Given the description of an element on the screen output the (x, y) to click on. 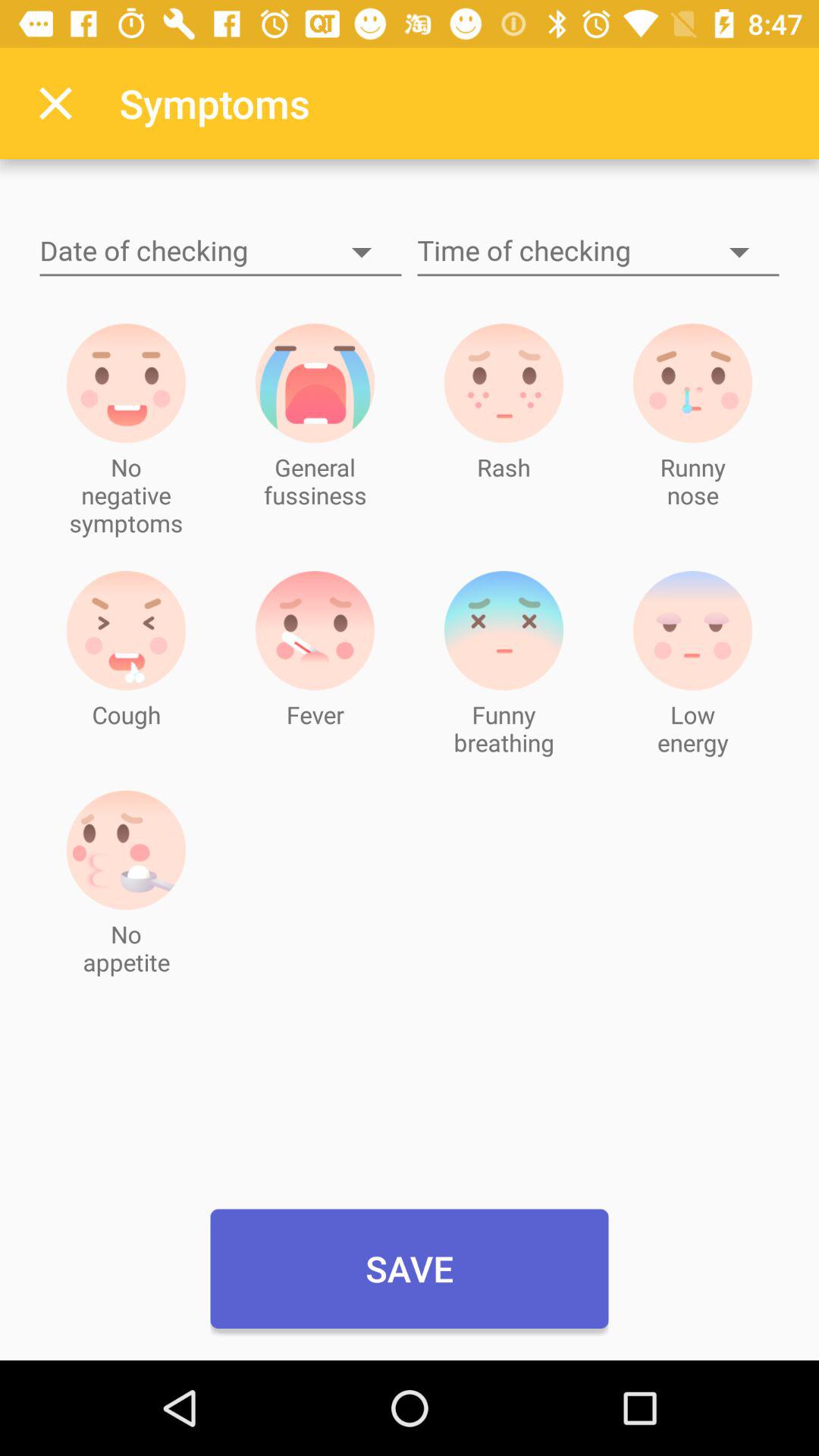
time of checking (598, 251)
